Given the description of an element on the screen output the (x, y) to click on. 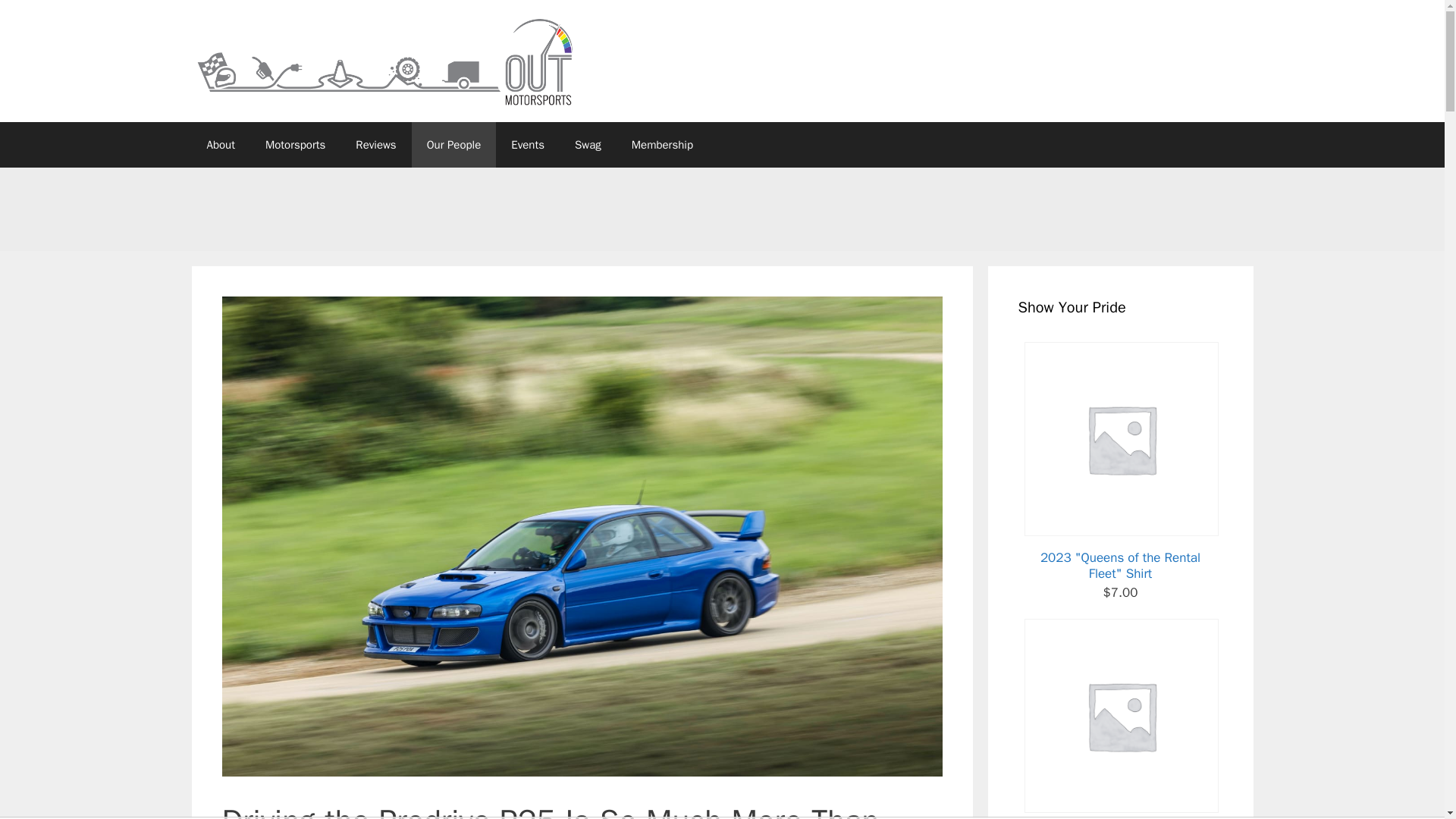
Swag (587, 144)
Reviews (375, 144)
2022 "Family Haulers" Trackcross Shirt (1119, 719)
Motorsports (295, 144)
Events (527, 144)
Membership (661, 144)
Our People (454, 144)
2023 "Queens of the Rental Fleet" Shirt (1119, 461)
About (219, 144)
